Given the description of an element on the screen output the (x, y) to click on. 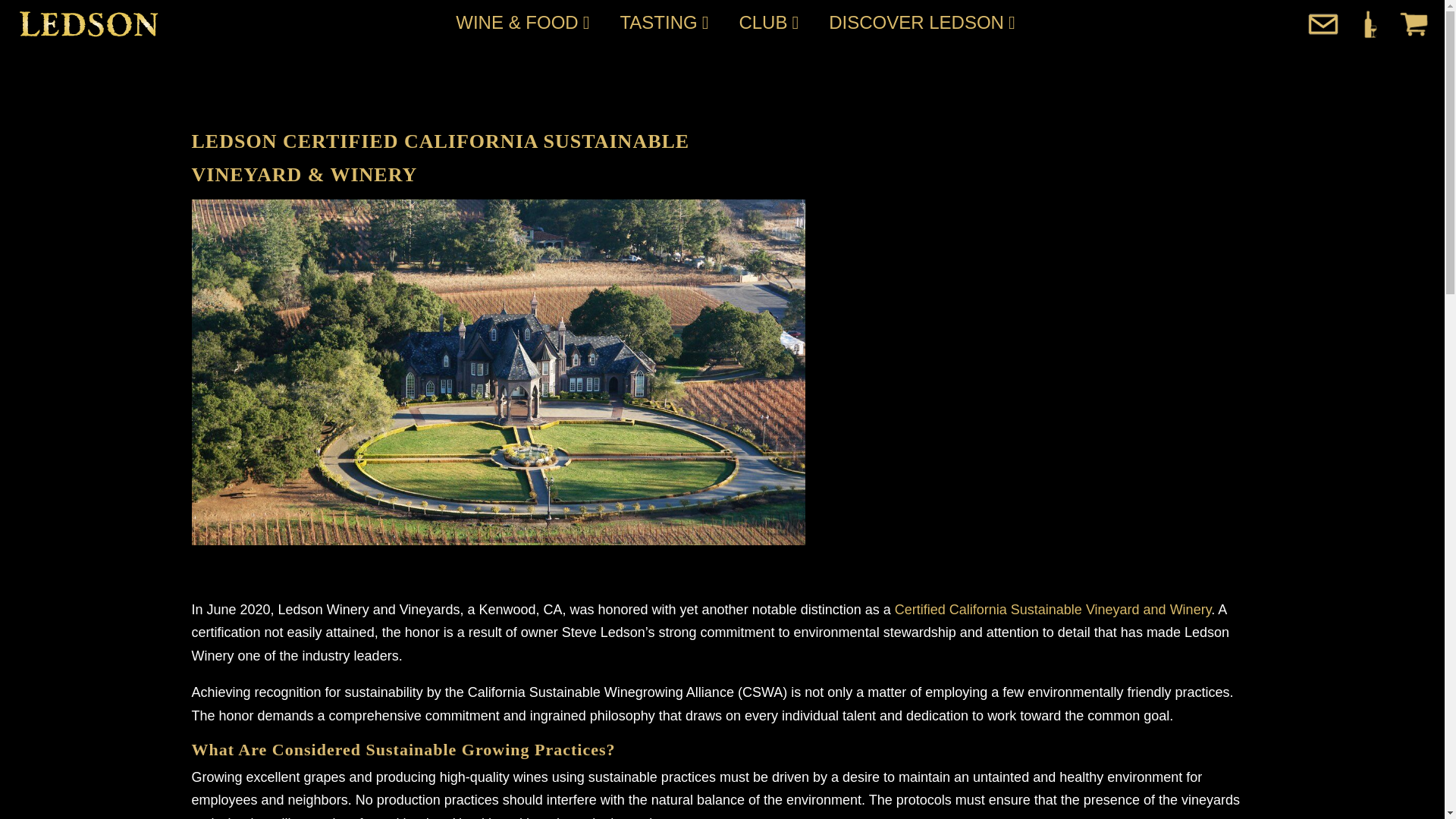
DISCOVER LEDSON (921, 22)
TASTING (663, 22)
Certified California Sustainable Vineyard and Winery (1053, 609)
CLUB (768, 22)
